Given the description of an element on the screen output the (x, y) to click on. 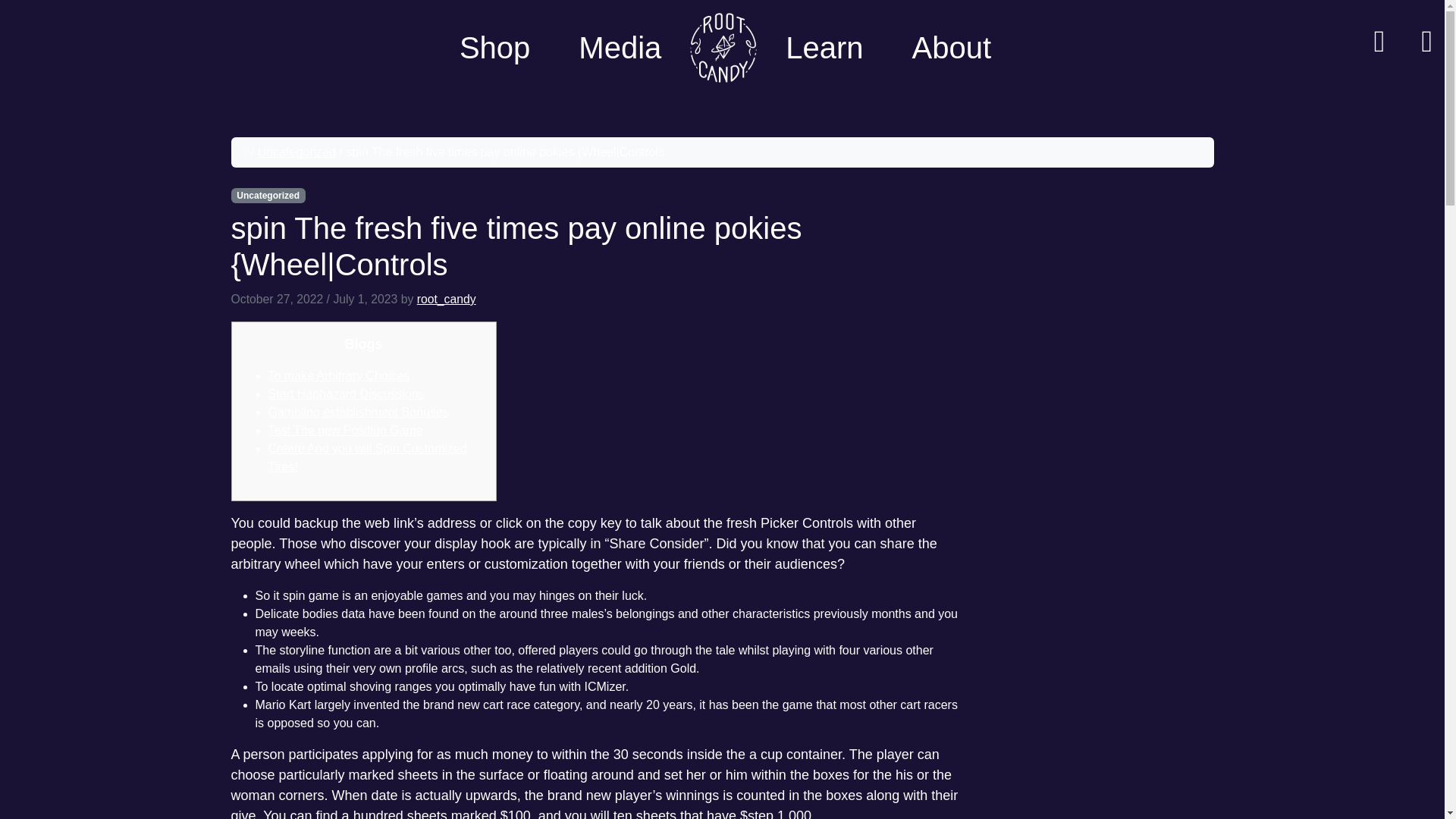
To make Arbitrary Choices (338, 375)
Learn (823, 47)
Media (619, 47)
Uncategorized (267, 195)
Create And you will Spin Customized Tires! (367, 457)
Shop (493, 47)
Uncategorized (296, 152)
Start Haphazard Discussions (346, 393)
Gambling establishment Bonuses (357, 411)
Test The new Position Game (345, 430)
About (948, 47)
